Given the description of an element on the screen output the (x, y) to click on. 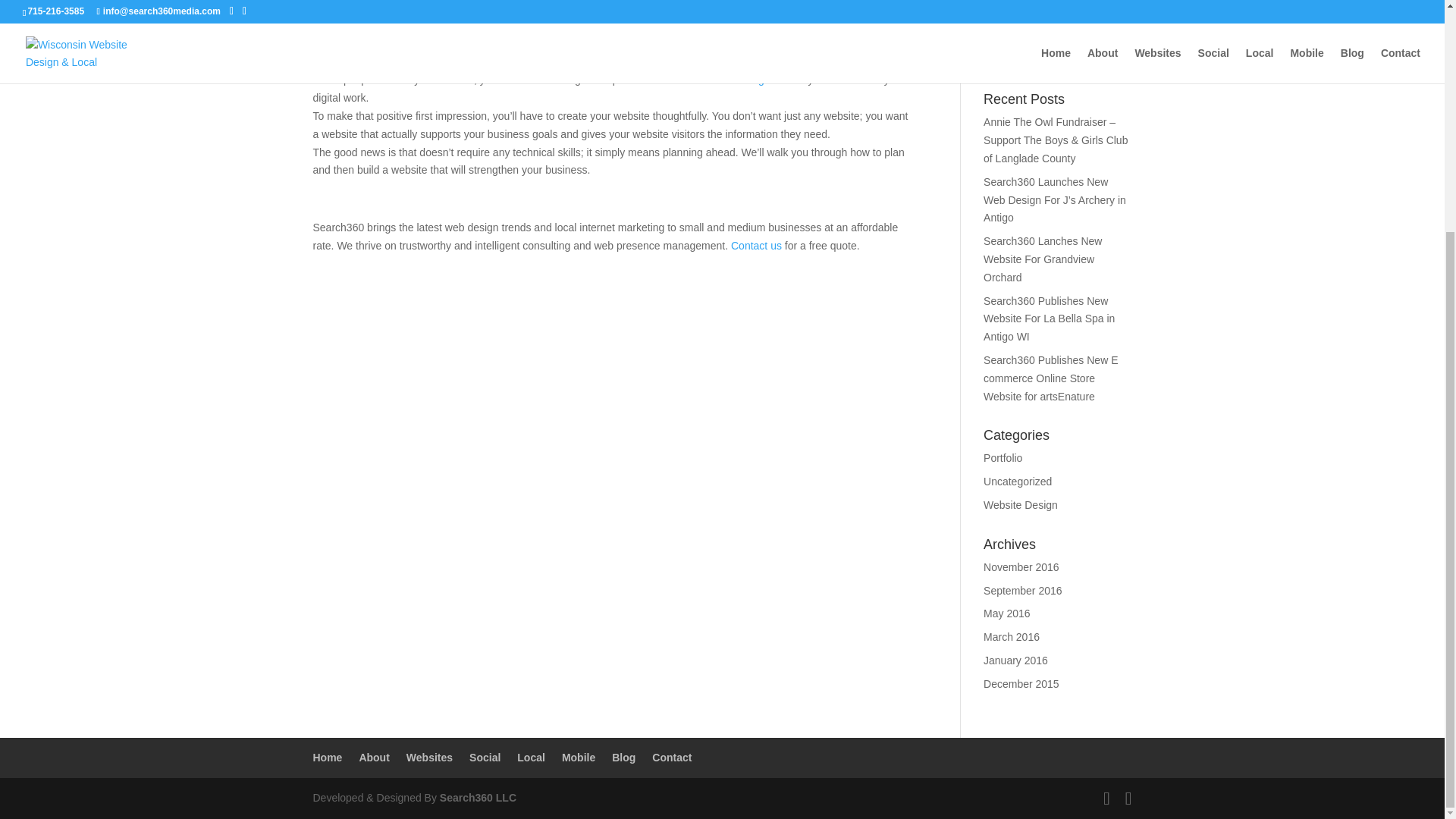
Search360 LLC (865, 1)
Portfolio (1003, 458)
November 2016 (1021, 567)
Search360 Lanches New Website For Grandview Orchard (1043, 259)
Search (1106, 54)
Search (1106, 54)
Contact us (755, 245)
Website Design (1021, 504)
